Given the description of an element on the screen output the (x, y) to click on. 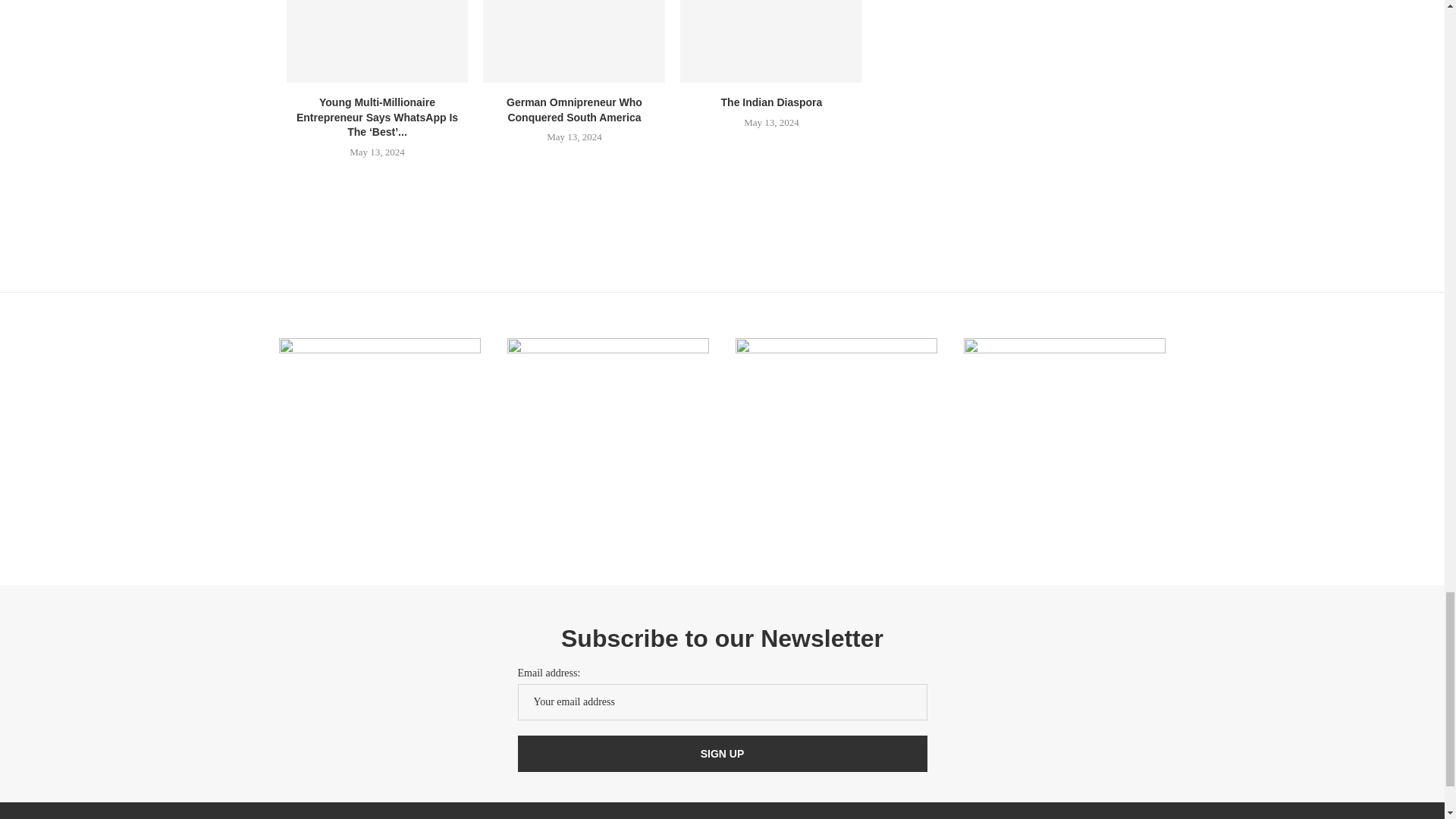
Sign up (721, 753)
